Given the description of an element on the screen output the (x, y) to click on. 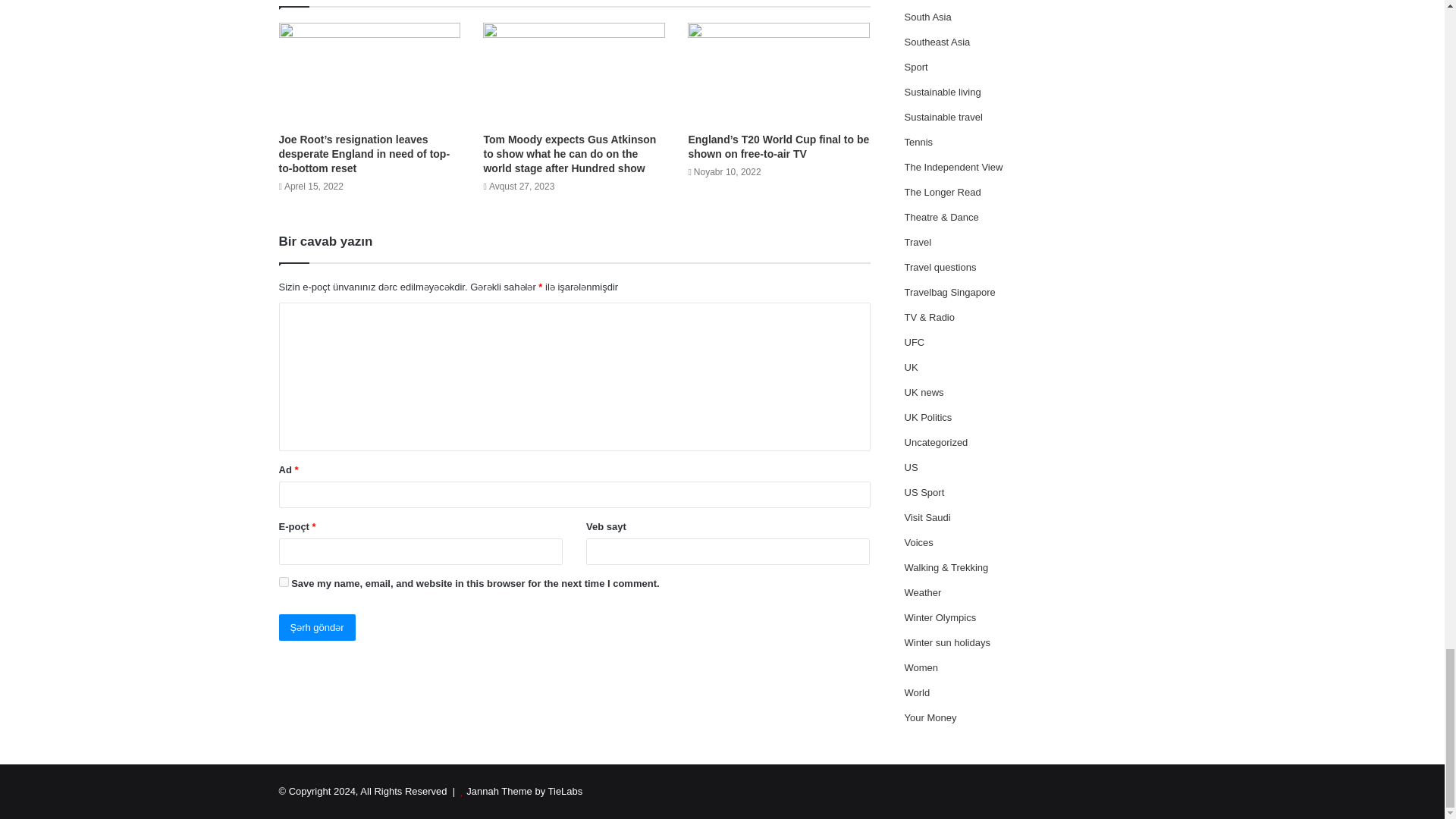
yes (283, 582)
